Given the description of an element on the screen output the (x, y) to click on. 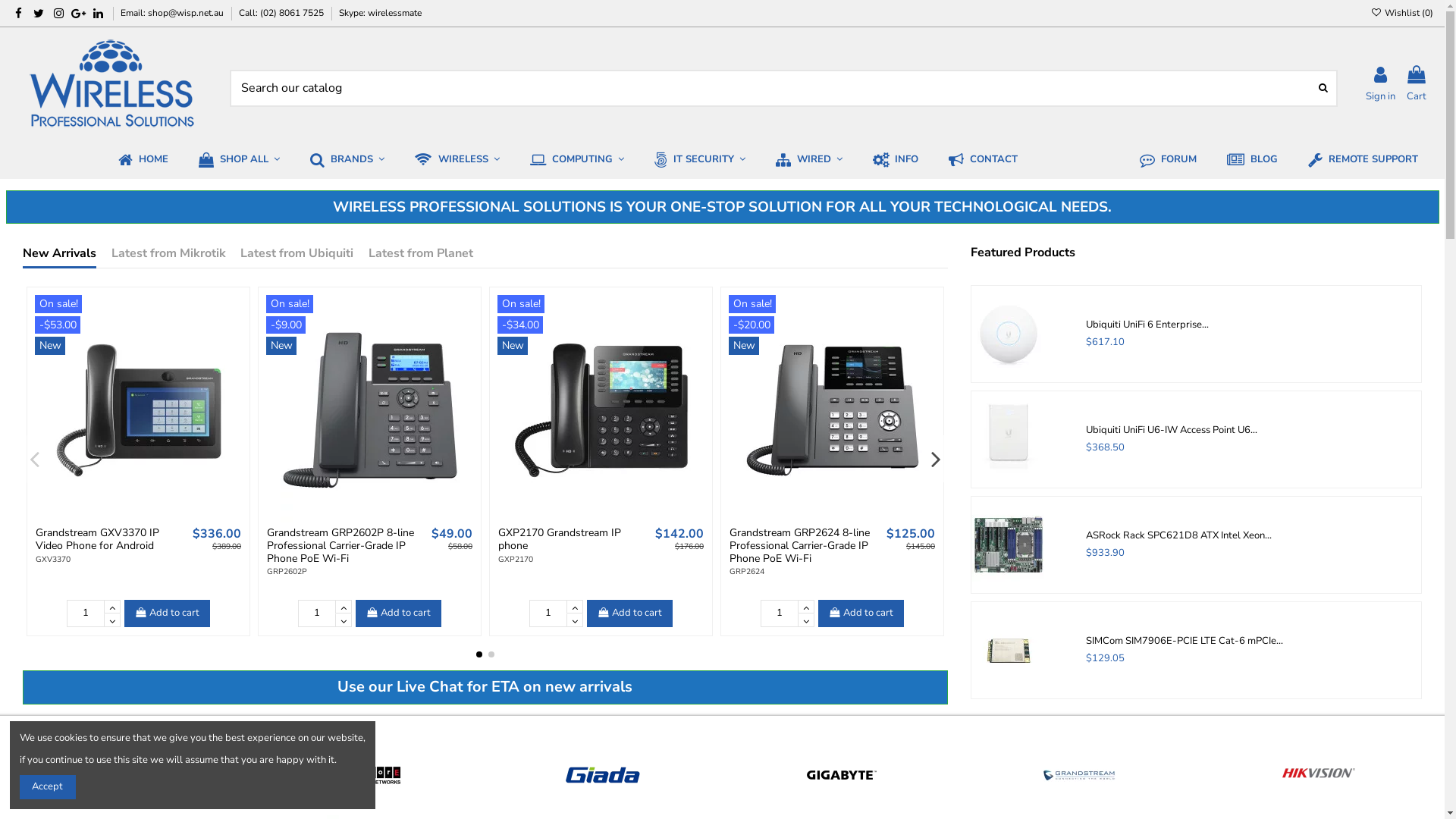
IT SECURITY Element type: text (699, 159)
Latest from Ubiquiti Element type: text (296, 256)
Accept Element type: text (47, 787)
WIRELESS Element type: text (456, 159)
Wishlist (0) Element type: text (1402, 12)
SHOP ALL Element type: text (238, 159)
Cart Element type: text (1416, 84)
Ubiquiti UniFi U6-IW Access Point U6... Element type: text (1171, 429)
COMPUTING Element type: text (576, 159)
Latest from Planet Element type: text (420, 256)
REMOTE SUPPORT Element type: text (1362, 159)
Use our Live Chat for ETA on new arrivals Element type: text (484, 687)
Add to cart Element type: text (629, 613)
GXP2170 Grandstream IP phone Element type: text (559, 538)
INFO Element type: text (895, 159)
Call: (02) 8061 7525 Element type: text (282, 12)
Add to cart Element type: text (398, 613)
Add to cart Element type: text (167, 613)
FORUM Element type: text (1167, 159)
HOME Element type: text (143, 159)
SIMCom SIM7906E-PCIE LTE Cat-6 mPCIe... Element type: text (1184, 640)
Add to cart Element type: text (861, 613)
Ubiquiti UniFi 6 Enterprise... Element type: text (1146, 324)
New Arrivals Element type: text (59, 257)
Grandstream GXV3370 IP Video Phone for Android Element type: text (97, 538)
CONTACT Element type: text (982, 159)
Latest from Mikrotik Element type: text (167, 256)
BRANDS Element type: text (346, 159)
BLOG Element type: text (1251, 159)
Sign in Element type: text (1380, 84)
WIRED Element type: text (808, 159)
Email: shop@wisp.net.au Element type: text (172, 12)
ASRock Rack SPC621D8 ATX Intel Xeon... Element type: text (1178, 535)
Skype: wirelessmate Element type: text (379, 12)
